Given the description of an element on the screen output the (x, y) to click on. 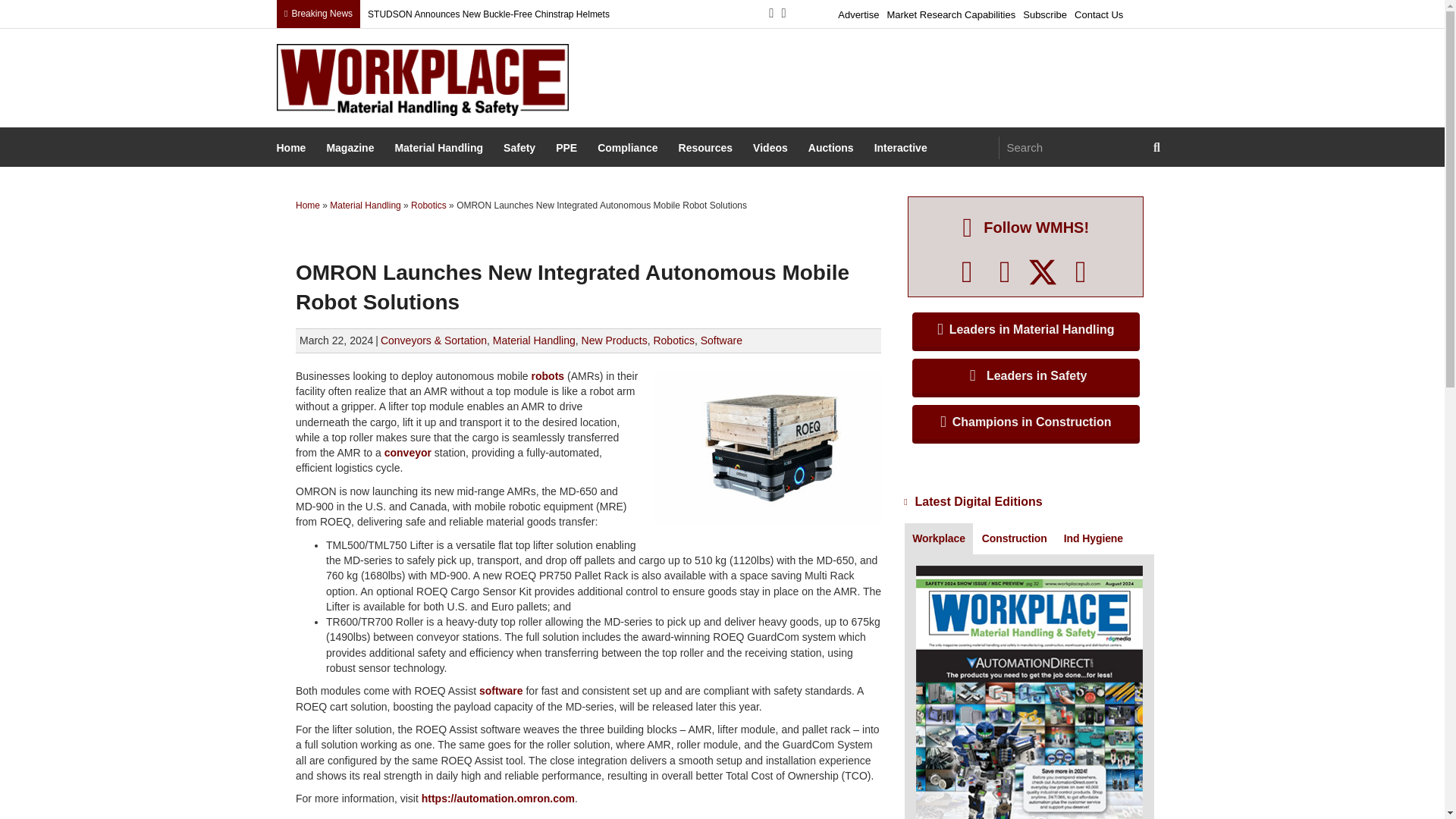
Facebook (967, 271)
Market Research Capabilities (950, 11)
LinkedIn (1005, 271)
Home (292, 148)
Click Here (1026, 329)
Workplace-Logo (422, 79)
Advertise (858, 11)
YouTube (1080, 271)
Search (1071, 147)
Material Handling (440, 148)
